Given the description of an element on the screen output the (x, y) to click on. 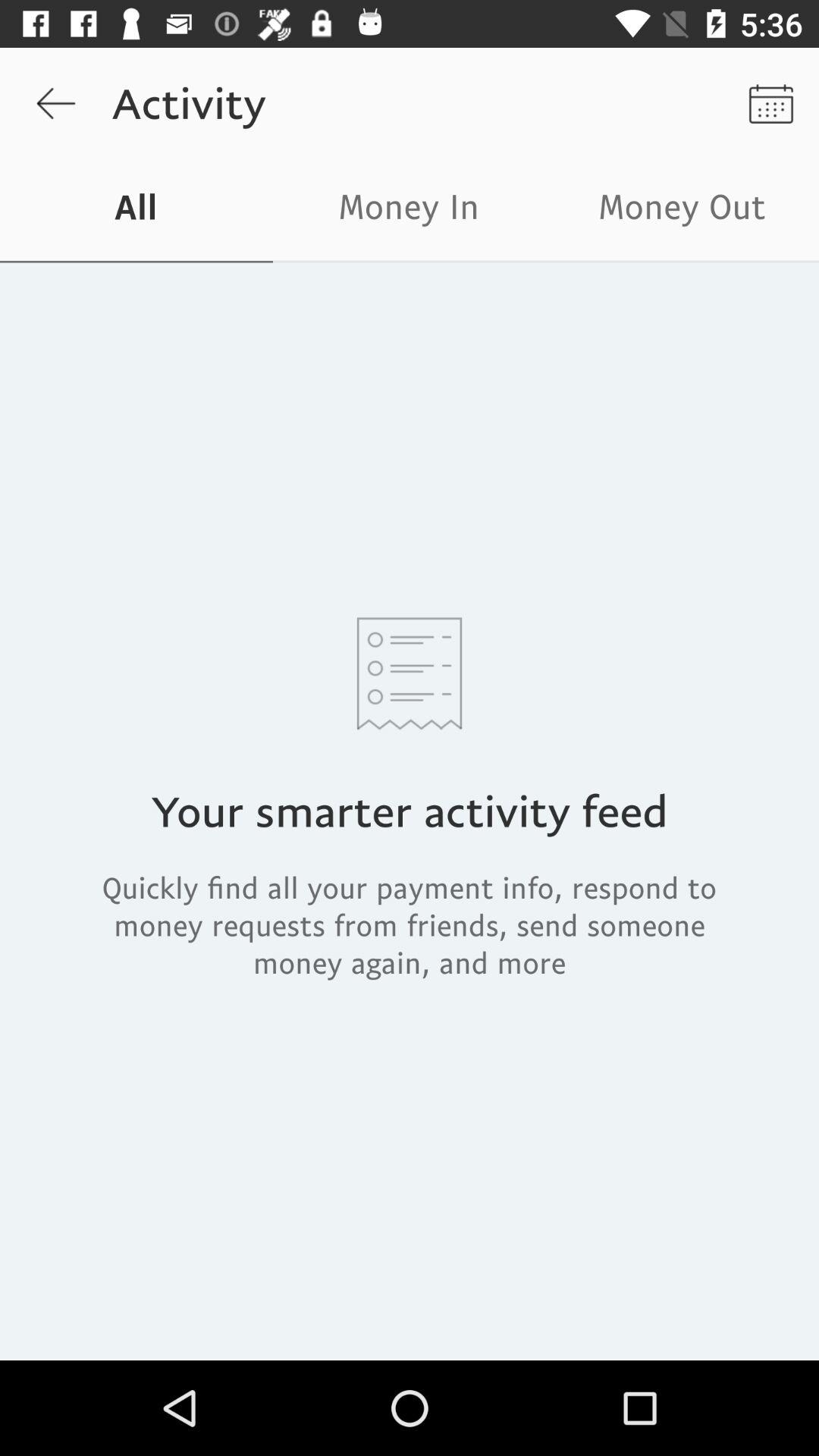
tap icon next to the activity (55, 103)
